Given the description of an element on the screen output the (x, y) to click on. 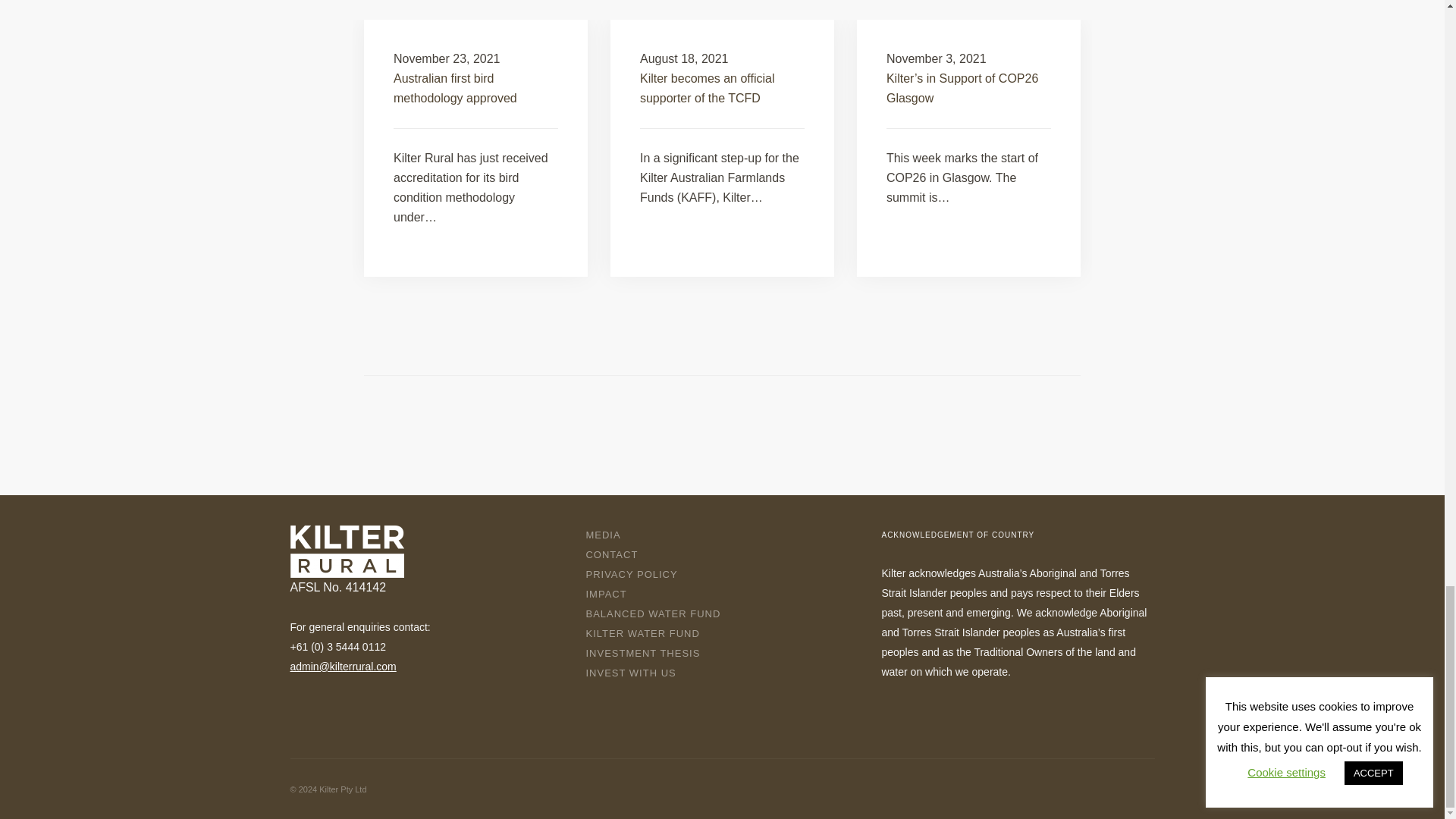
BALANCED WATER FUND (659, 614)
PRIVACY POLICY (637, 574)
IMPACT (612, 594)
MEDIA (609, 535)
CONTACT (617, 555)
